Given the description of an element on the screen output the (x, y) to click on. 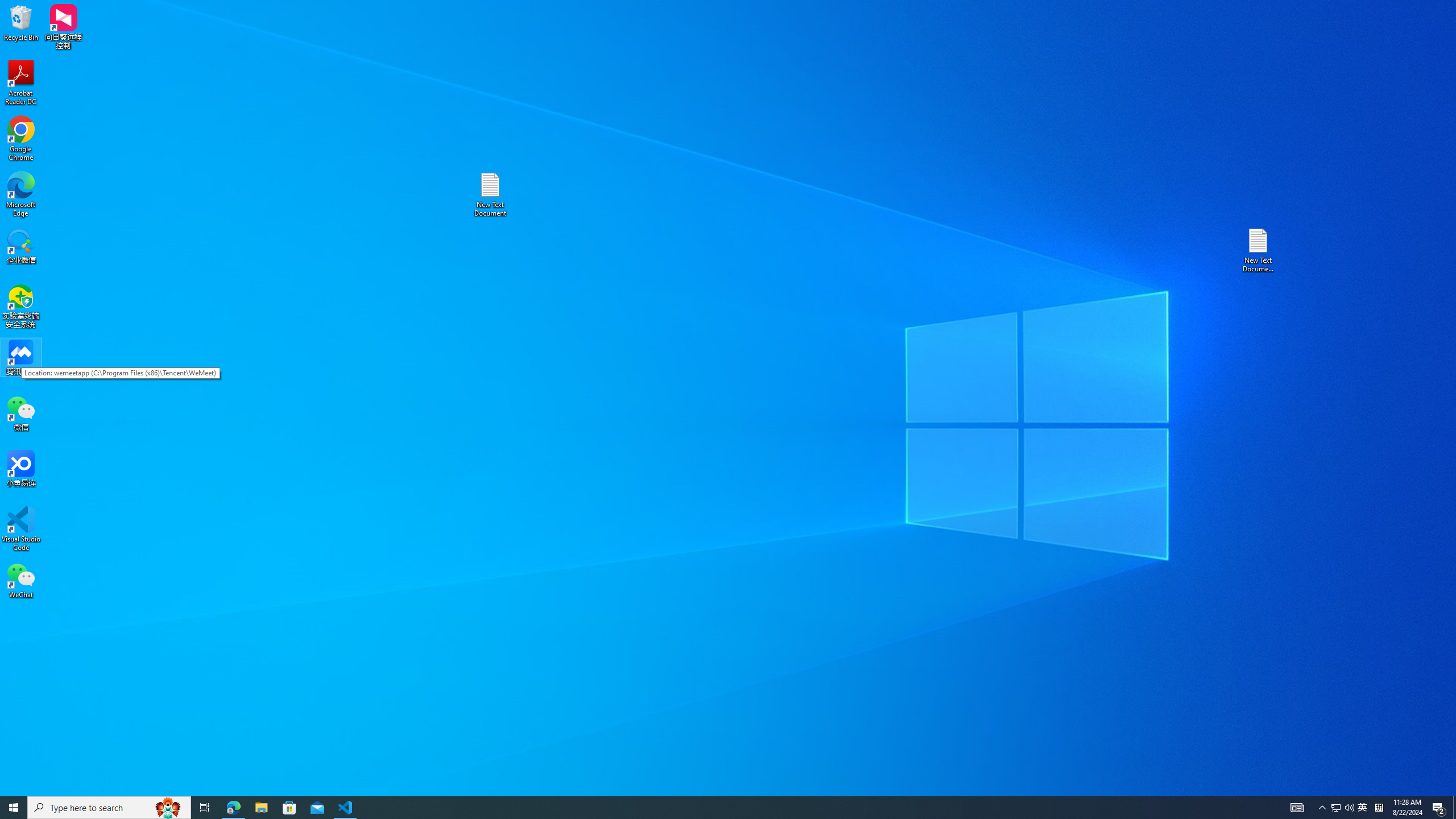
Action Center, 2 new notifications (1439, 807)
AutomationID: 4105 (1297, 807)
Microsoft Edge (21, 194)
Show desktop (1454, 807)
Start (13, 807)
Type here to search (108, 807)
Q2790: 100% (1349, 807)
New Text Document (2) (1258, 250)
Visual Studio Code - 1 running window (345, 807)
Search highlights icon opens search home window (167, 807)
Visual Studio Code (21, 528)
